Given the description of an element on the screen output the (x, y) to click on. 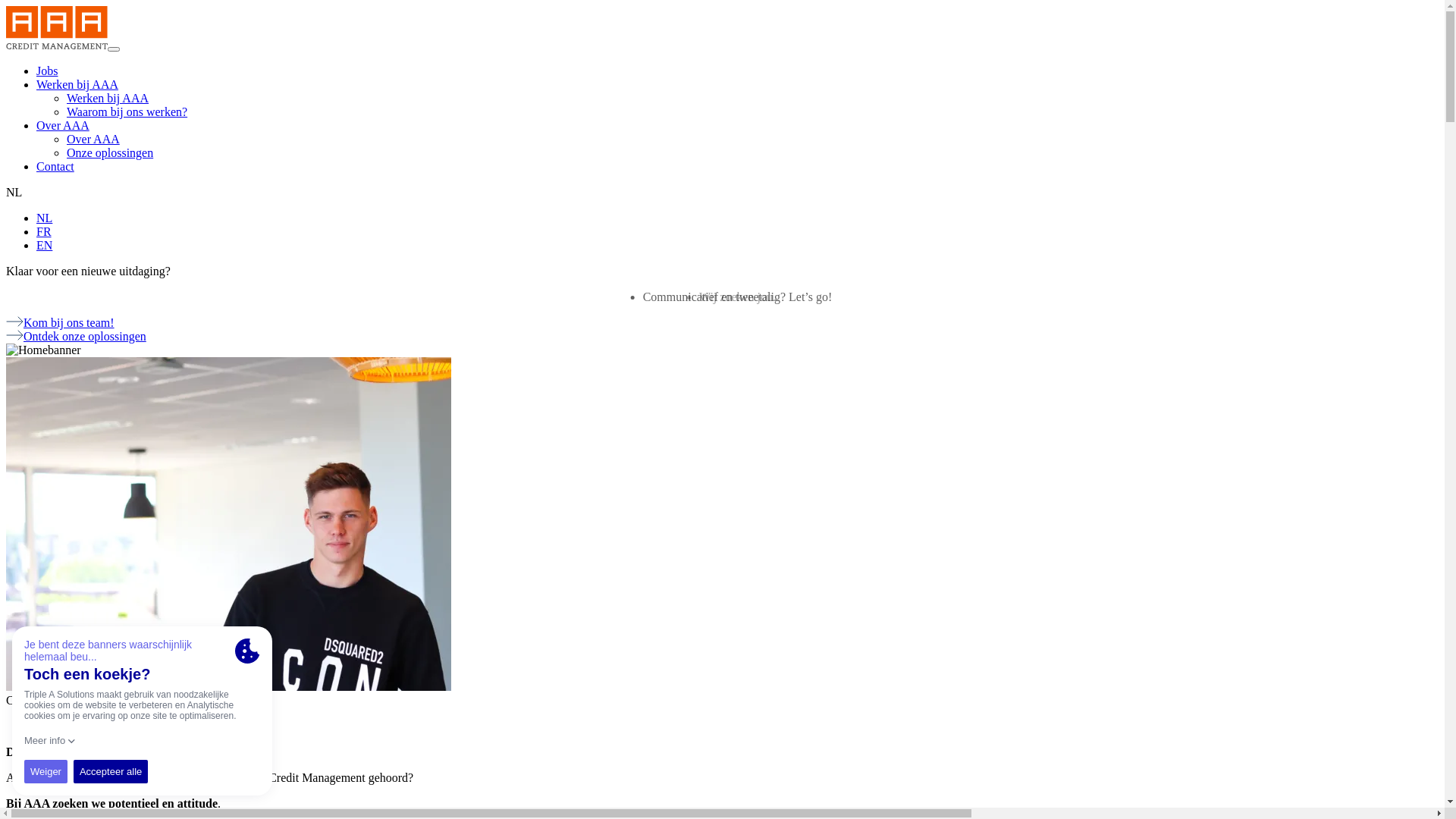
Jobs Element type: text (46, 70)
EN Element type: text (44, 244)
Werken bij AAA Element type: text (77, 84)
Ontdek onze oplossingen Element type: text (76, 335)
NL Element type: text (44, 217)
Werken bij AAA Element type: text (107, 97)
Waarom bij ons werken? Element type: text (126, 111)
Kom bij ons team! Element type: text (60, 322)
Over AAA Element type: text (62, 125)
Over AAA Element type: text (92, 138)
Contact Element type: text (55, 166)
FR Element type: text (43, 231)
Onze oplossingen Element type: text (109, 152)
